Given the description of an element on the screen output the (x, y) to click on. 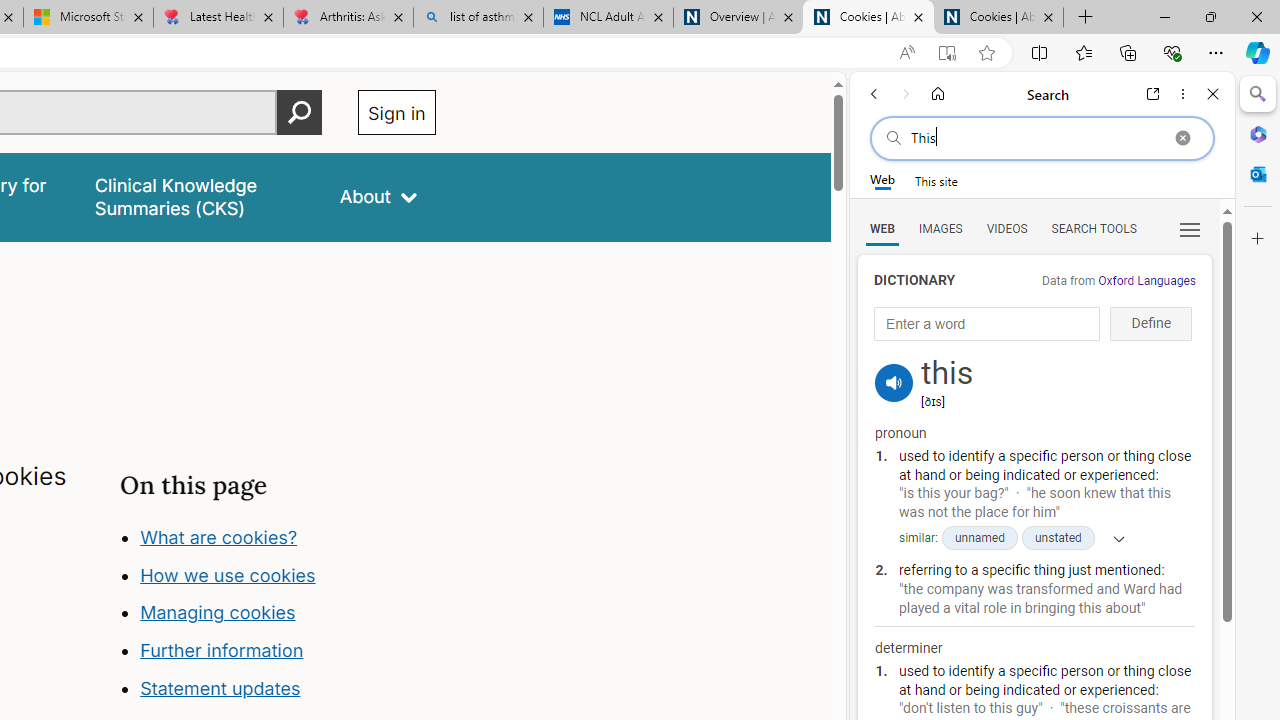
false (198, 196)
Clear (1182, 137)
Define (1150, 323)
How we use cookies (227, 574)
